Given the description of an element on the screen output the (x, y) to click on. 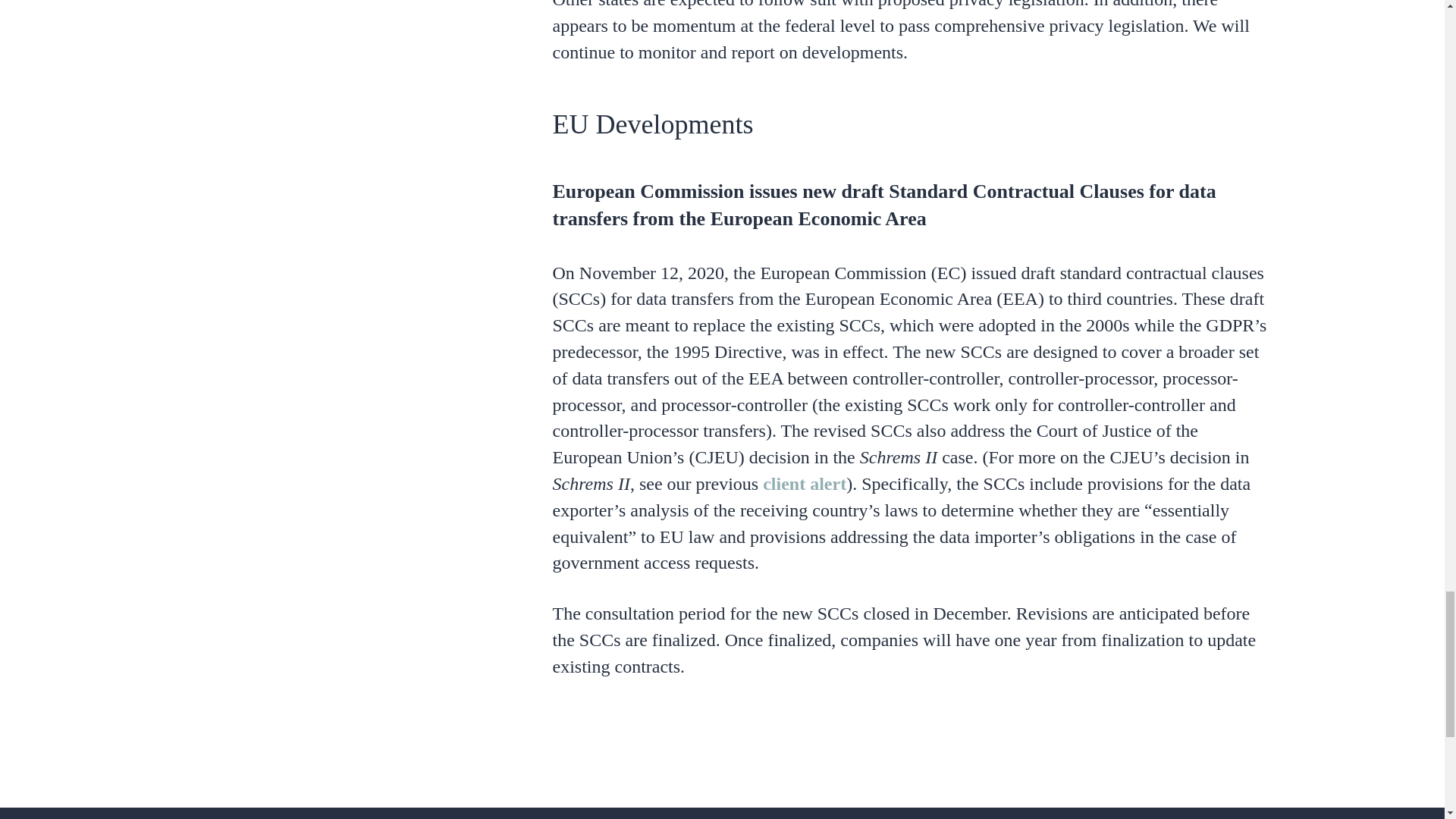
client alert (803, 483)
